Given the description of an element on the screen output the (x, y) to click on. 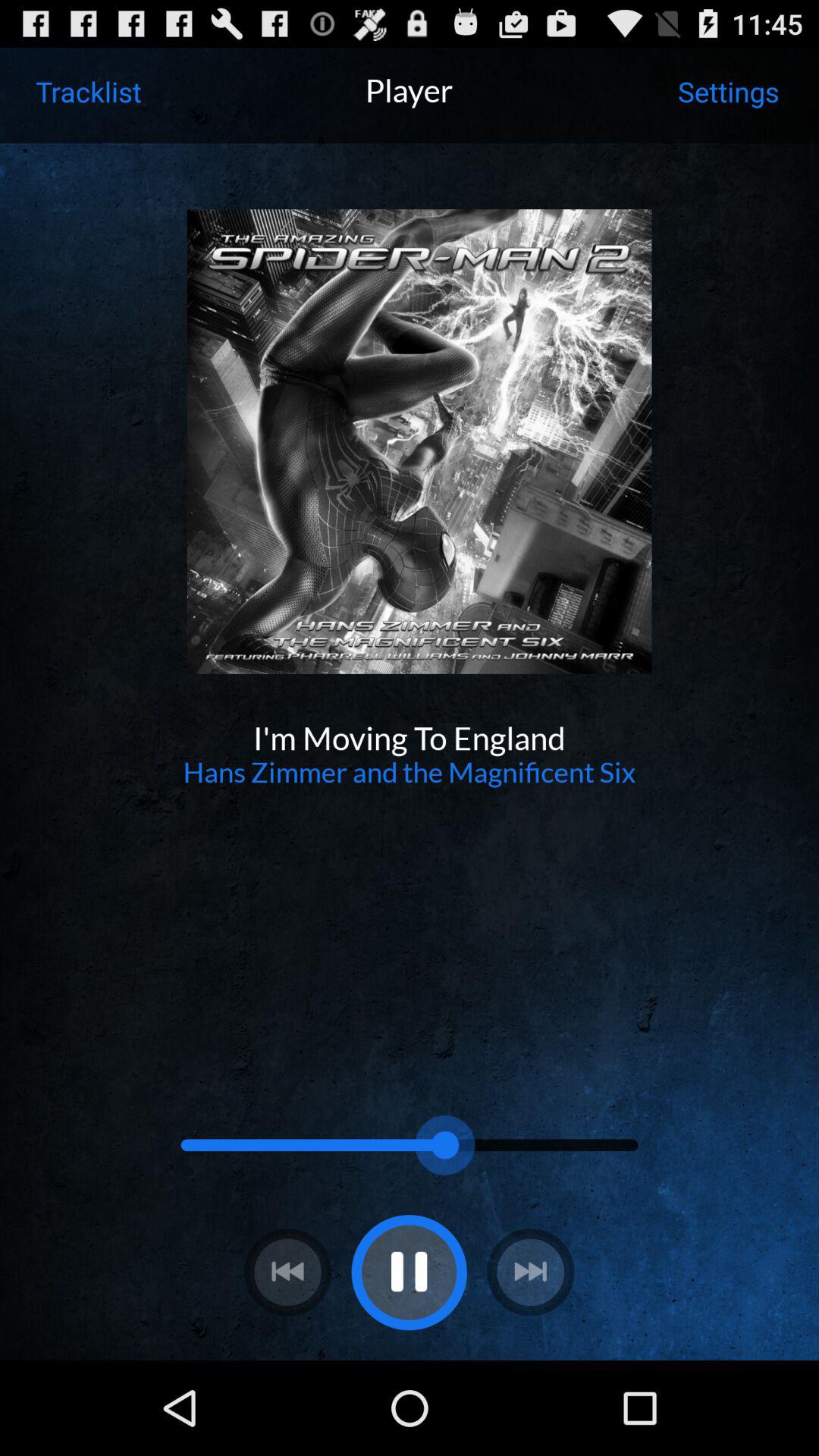
play next (530, 1272)
